Given the description of an element on the screen output the (x, y) to click on. 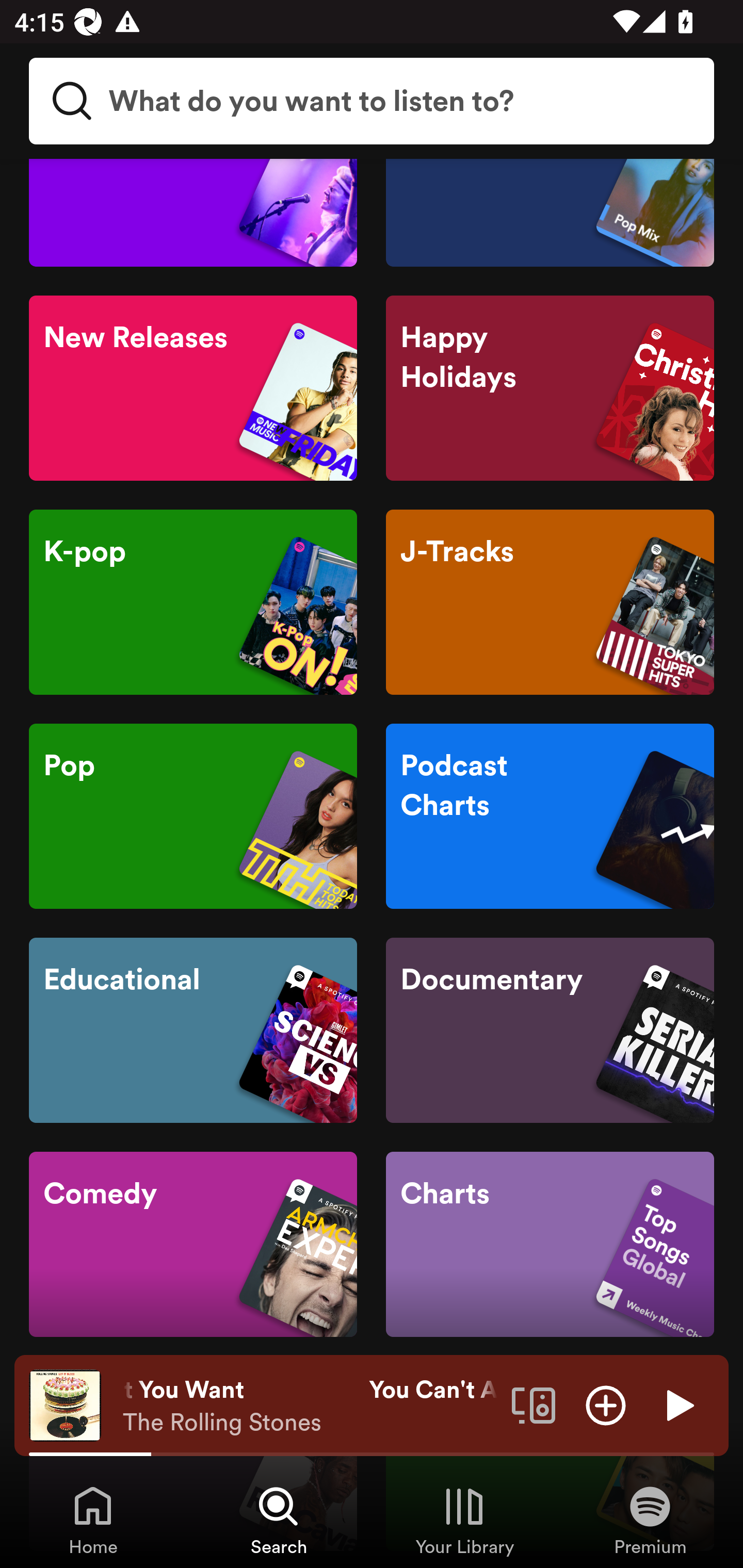
Live Events (192, 212)
Made For You (549, 212)
New Releases (192, 387)
Happy Holidays (549, 387)
K-pop (192, 601)
J-Tracks (549, 601)
Pop (192, 816)
Podcast Charts (549, 816)
Educational (192, 1029)
Documentary (549, 1029)
Comedy (192, 1244)
Charts (549, 1244)
The cover art of the currently playing track (64, 1404)
Connect to a device. Opens the devices menu (533, 1404)
Add item (605, 1404)
Play (677, 1404)
Home, Tab 1 of 4 Home Home (92, 1519)
Search, Tab 2 of 4 Search Search (278, 1519)
Your Library, Tab 3 of 4 Your Library Your Library (464, 1519)
Premium, Tab 4 of 4 Premium Premium (650, 1519)
